Given the description of an element on the screen output the (x, y) to click on. 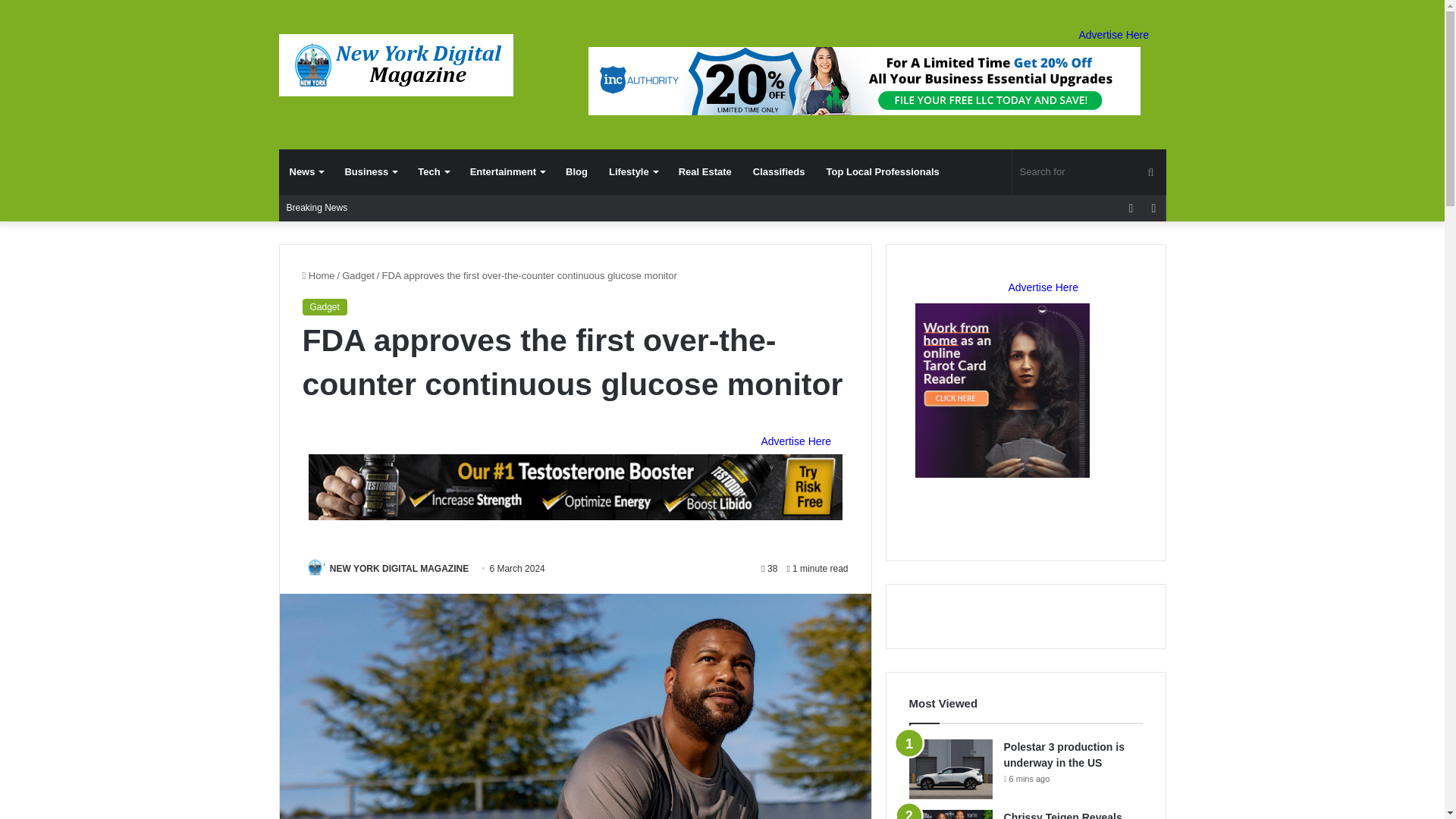
Classifieds (778, 171)
NEW YORK DIGITAL MAGAZINE (399, 568)
News (306, 171)
Lifestyle (633, 171)
Blog (576, 171)
Top Local Professionals (882, 171)
Search for (1088, 171)
Newyorkdigitalmagazine.com (396, 65)
Real Estate (705, 171)
Entertainment (507, 171)
